Given the description of an element on the screen output the (x, y) to click on. 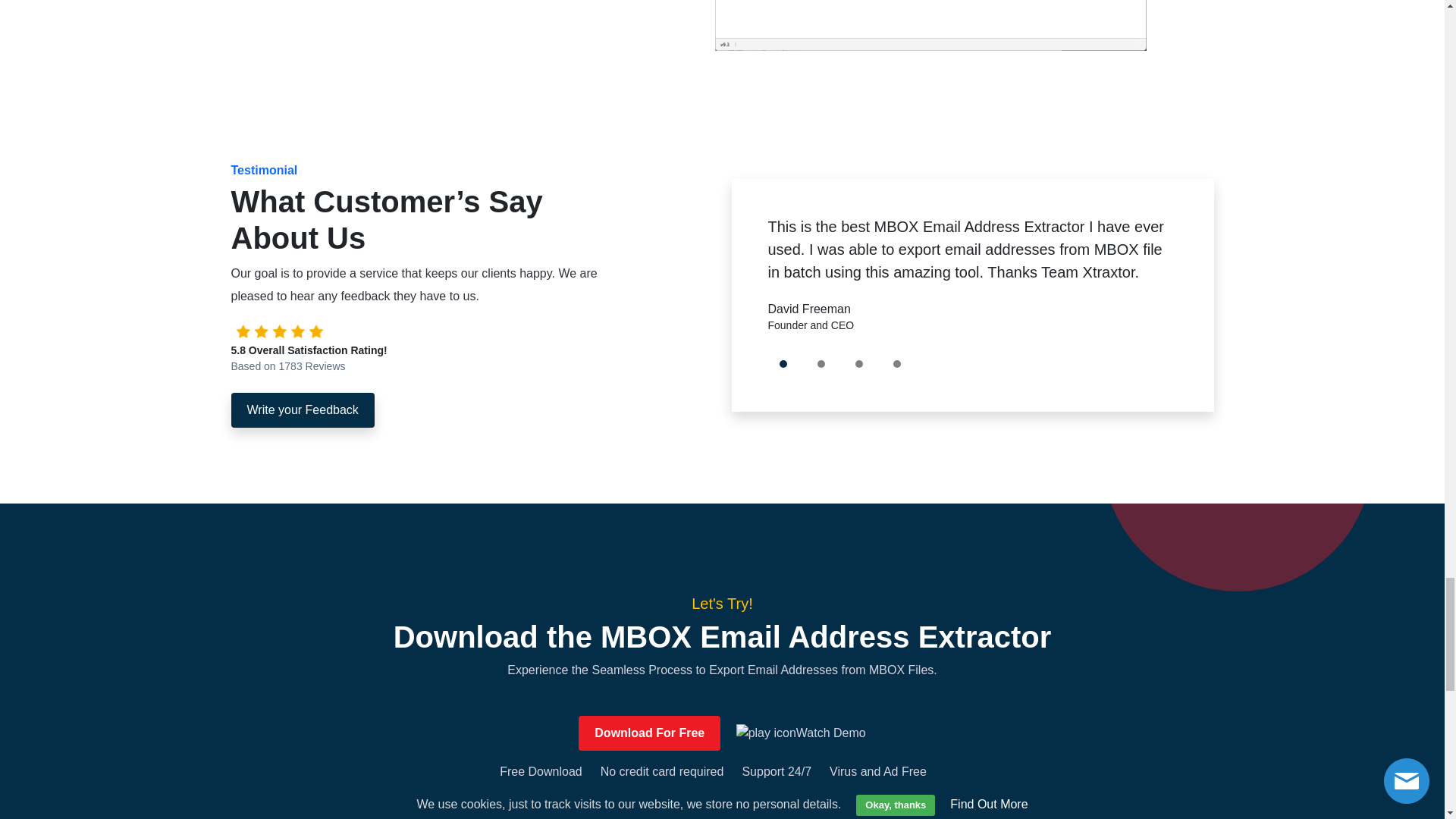
Download For Free (649, 733)
Write your Feedback (302, 410)
Watch Demo (801, 732)
